Given the description of an element on the screen output the (x, y) to click on. 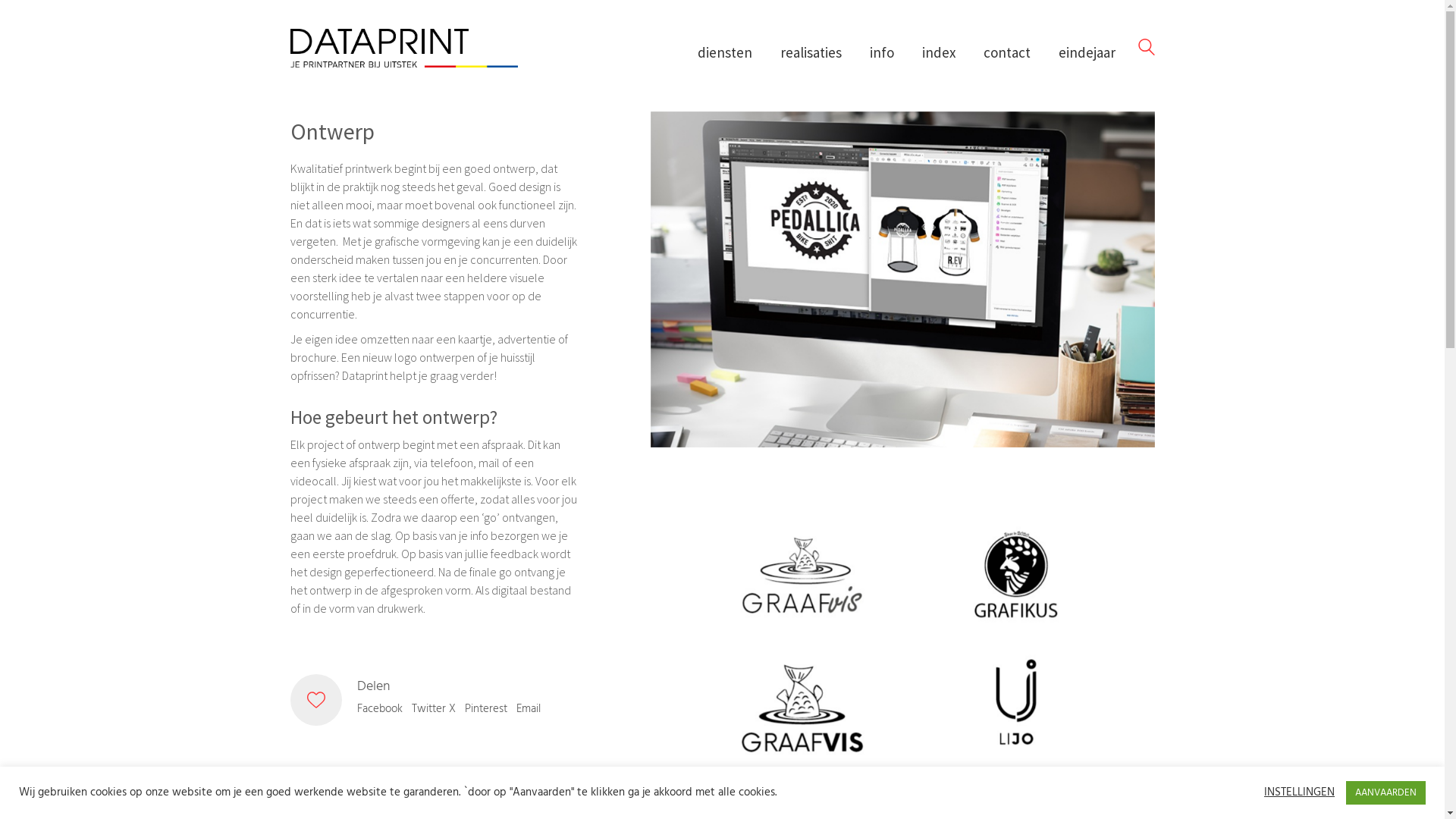
Twitter X Element type: text (433, 708)
AANVAARDEN Element type: text (1385, 792)
info Element type: text (881, 52)
index Element type: text (938, 52)
Pinterest Element type: text (485, 708)
INSTELLINGEN Element type: text (1299, 792)
diensten Element type: text (724, 52)
Email Element type: text (527, 708)
eindejaar Element type: text (1086, 52)
contact Element type: text (1005, 52)
Facebook Element type: text (378, 708)
realisaties Element type: text (809, 52)
